Given the description of an element on the screen output the (x, y) to click on. 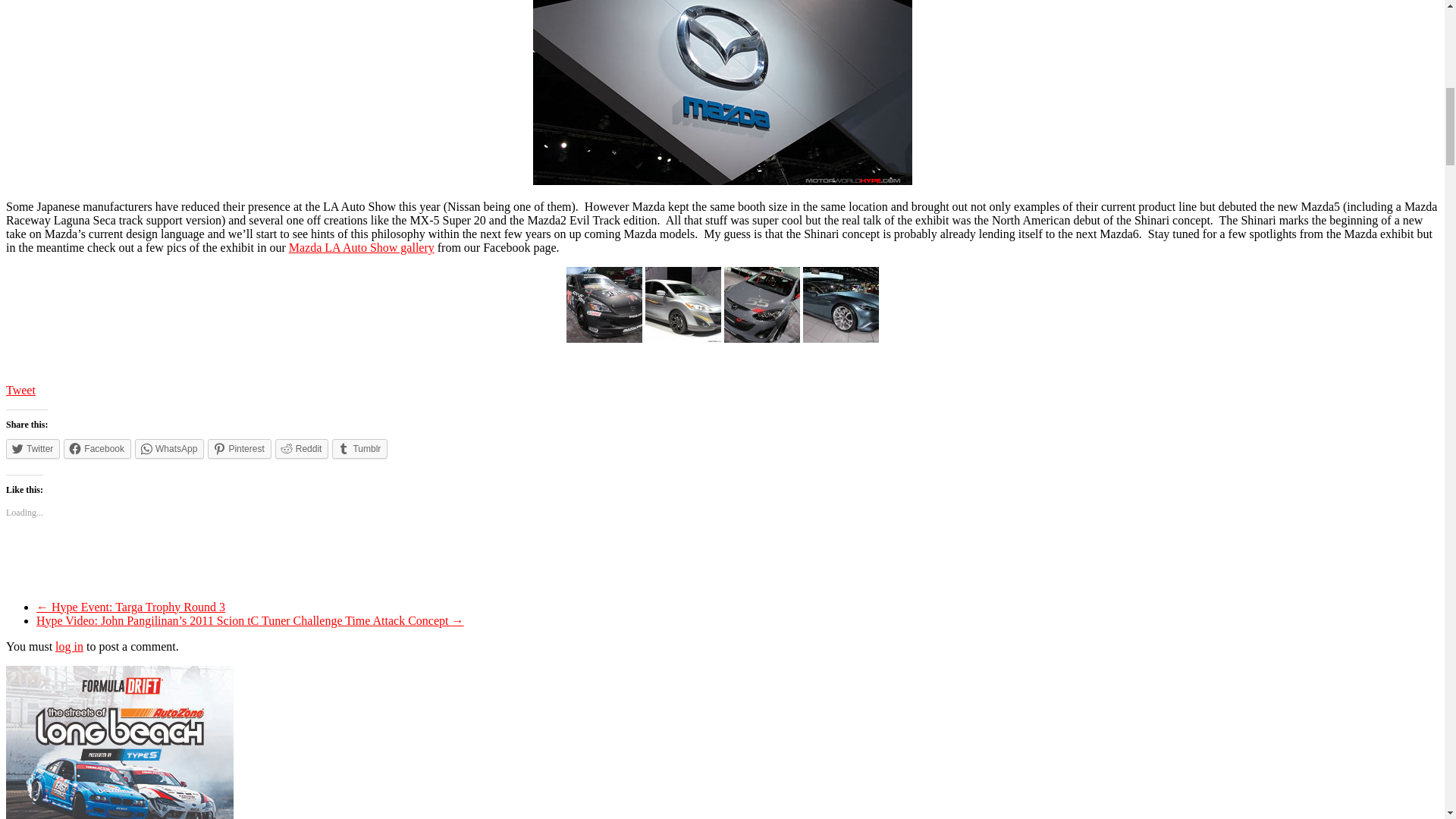
Click to share on Tumblr (359, 448)
Tweet (19, 390)
Click to share on Pinterest (239, 448)
Click to share on Twitter (32, 448)
Mazda LA Auto Show gallery (360, 246)
Click to share on Reddit (302, 448)
Click to share on Facebook (97, 448)
Click to share on WhatsApp (169, 448)
